Given the description of an element on the screen output the (x, y) to click on. 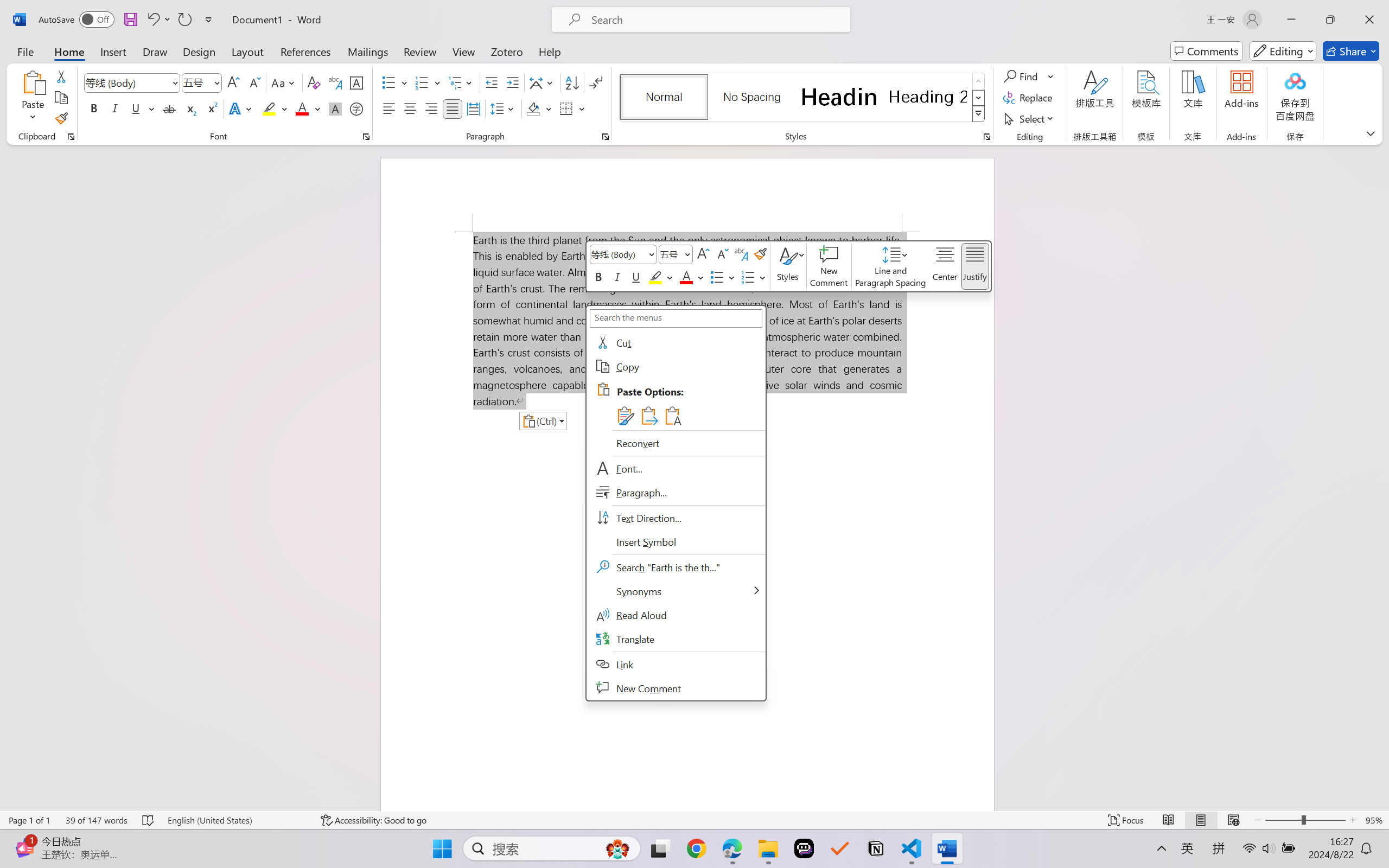
Open (215, 82)
Format Painter (60, 118)
Shading RGB(0, 0, 0) (533, 108)
Heading 2 (927, 96)
Line and Paragraph Spacing (503, 108)
Microsoft search (715, 19)
Class: NetUIScrollBar (1382, 477)
